Given the description of an element on the screen output the (x, y) to click on. 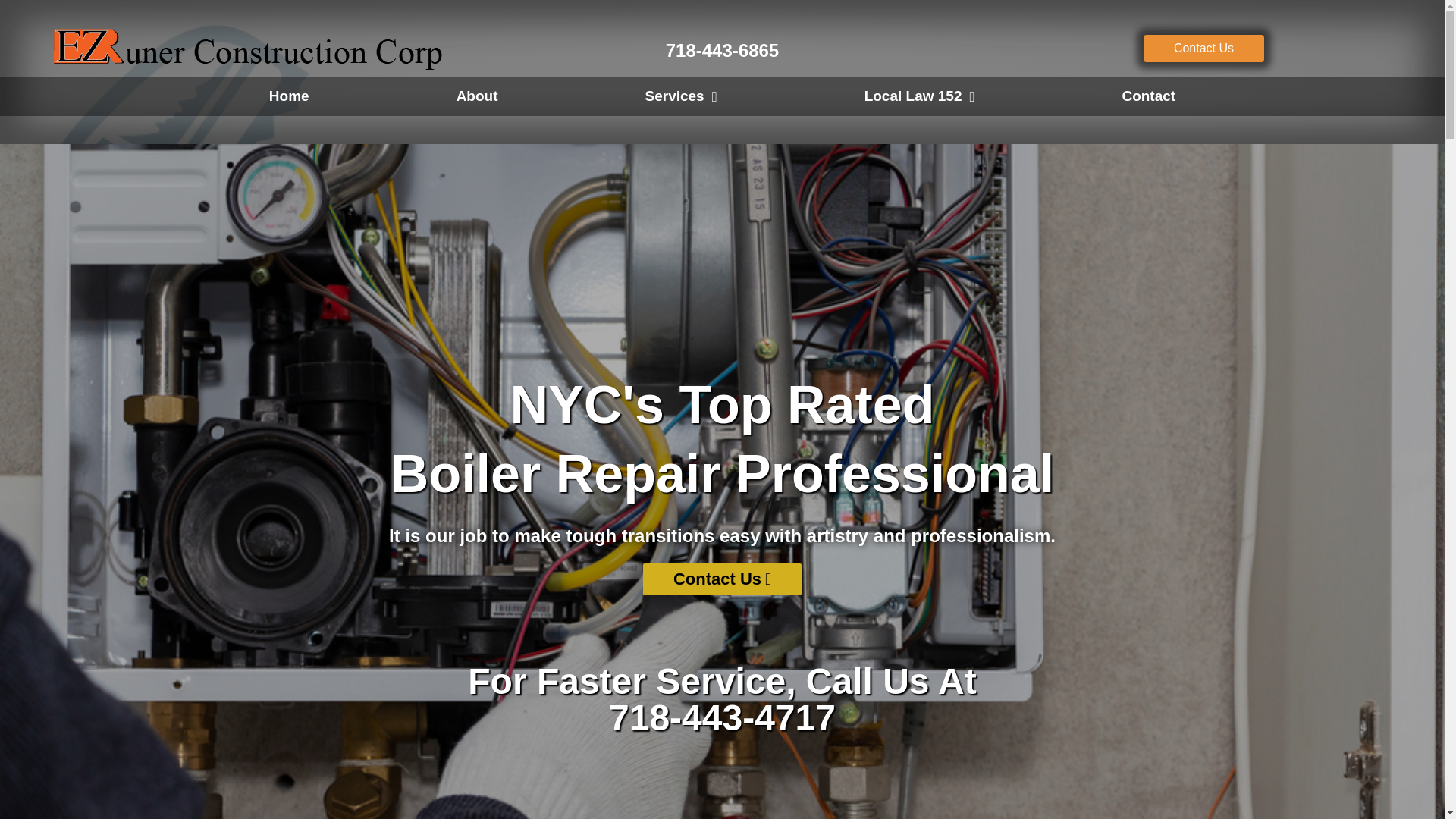
Contact Us (1202, 48)
Contact Us (722, 579)
Local Law 152 (919, 96)
Contact (1147, 96)
Services (721, 698)
718-443-6865 (680, 96)
About (721, 50)
Home (477, 96)
